Given the description of an element on the screen output the (x, y) to click on. 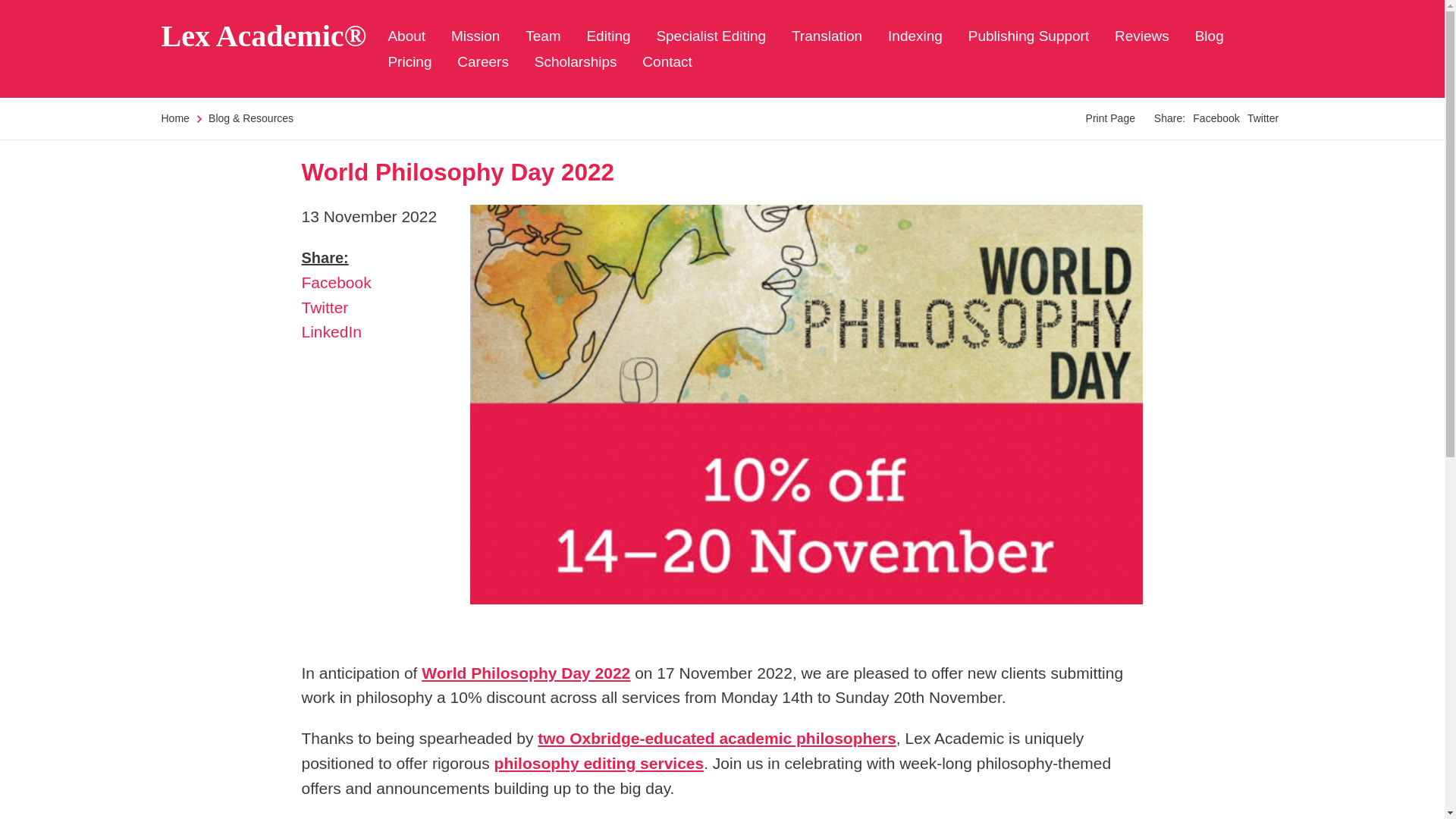
Scholarships (575, 61)
Translation (826, 35)
Careers (482, 61)
Contact (666, 61)
Editing (608, 35)
About (406, 35)
Mission (475, 35)
Specialist Editing (710, 35)
Indexing (915, 35)
Reviews (1142, 35)
Print Page (1110, 118)
Home (174, 118)
Publishing Support (1028, 35)
Team (542, 35)
Pricing (408, 61)
